Given the description of an element on the screen output the (x, y) to click on. 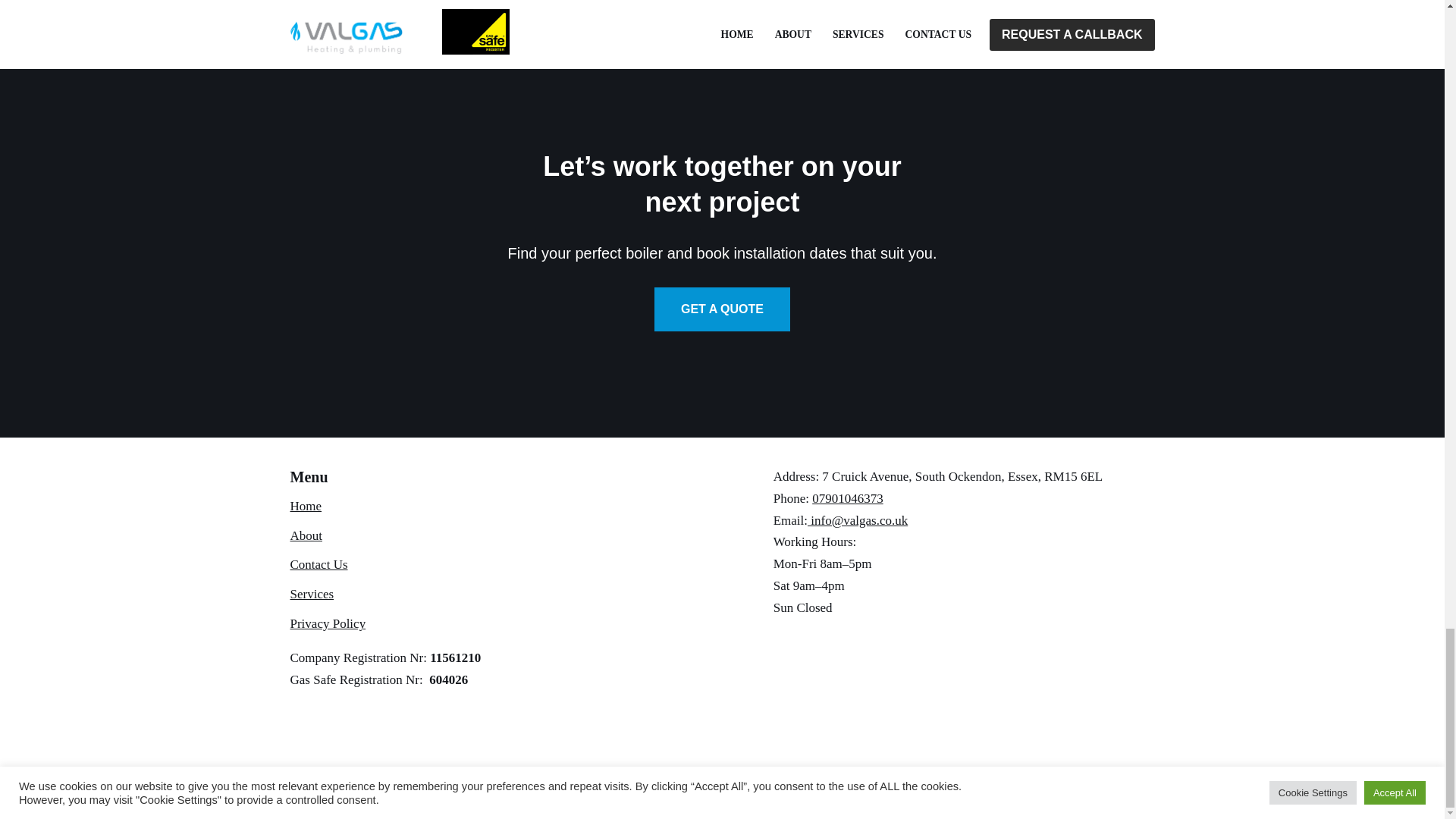
GET A QUOTE (721, 309)
About (305, 535)
07901046373 (847, 498)
Home (305, 505)
Contact Us (318, 564)
Services (311, 594)
Privacy Policy (327, 623)
